Given the description of an element on the screen output the (x, y) to click on. 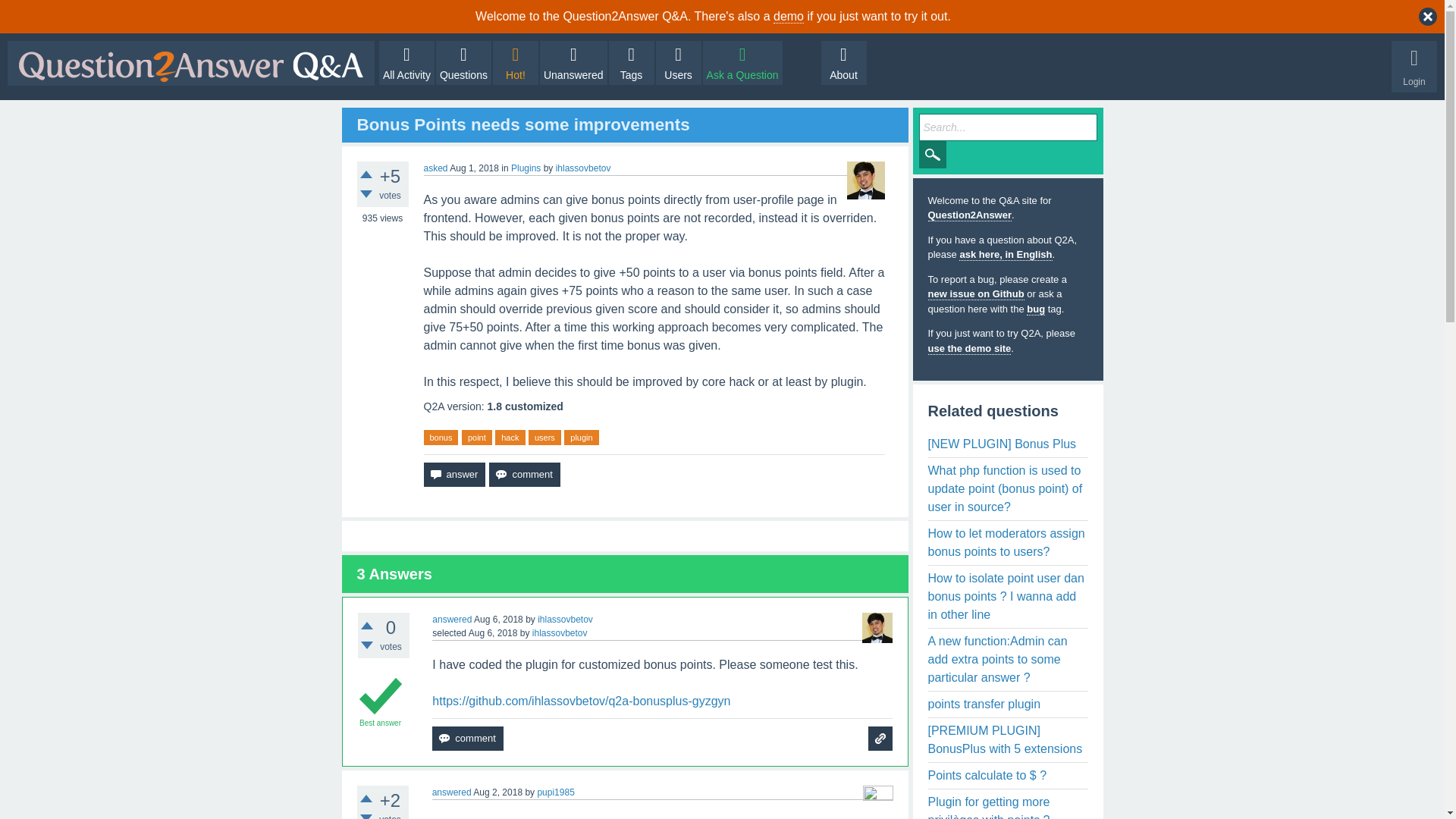
comment (524, 474)
ask related question (879, 738)
Bonus Points needs some improvements (522, 124)
Click to vote up (365, 798)
X (1427, 16)
Answer this question (453, 474)
All Activity (405, 62)
comment (524, 474)
asked (434, 167)
ihlassovbetov (564, 619)
Unanswered (573, 62)
Ask a new question relating to this answer (879, 738)
X (1427, 16)
Users (678, 62)
answer (453, 474)
